Given the description of an element on the screen output the (x, y) to click on. 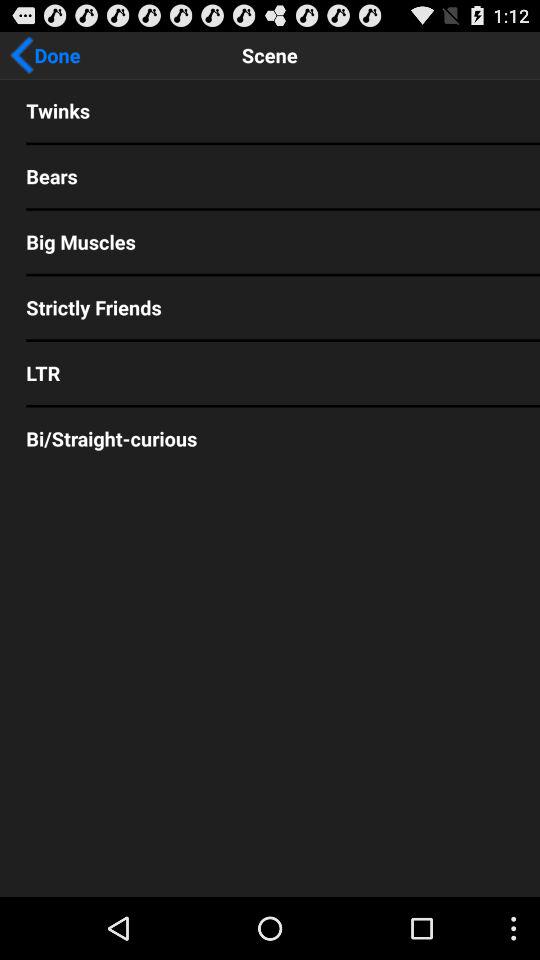
flip until strictly friends item (270, 307)
